Given the description of an element on the screen output the (x, y) to click on. 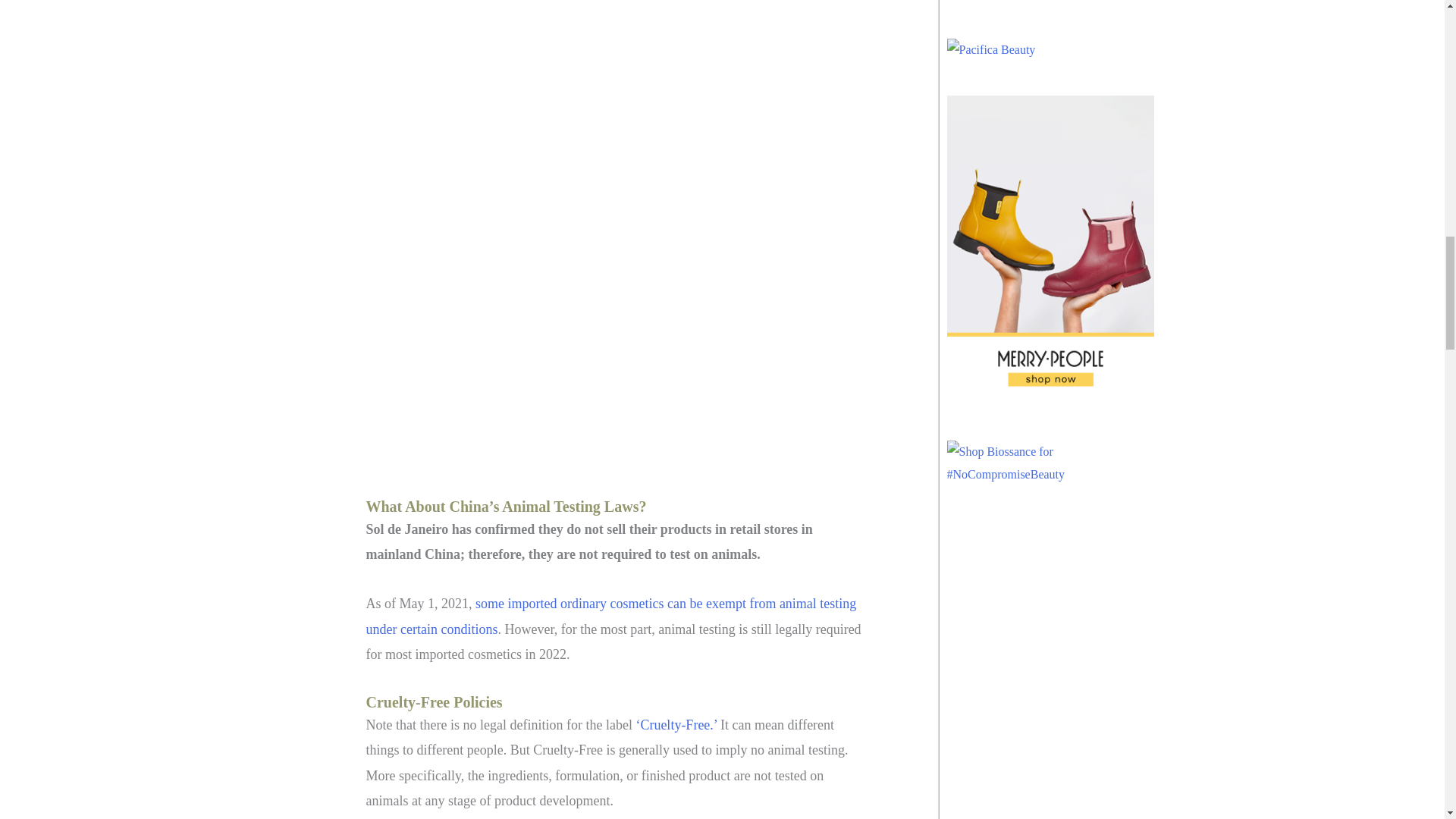
Pacifica Beauty (990, 49)
